Given the description of an element on the screen output the (x, y) to click on. 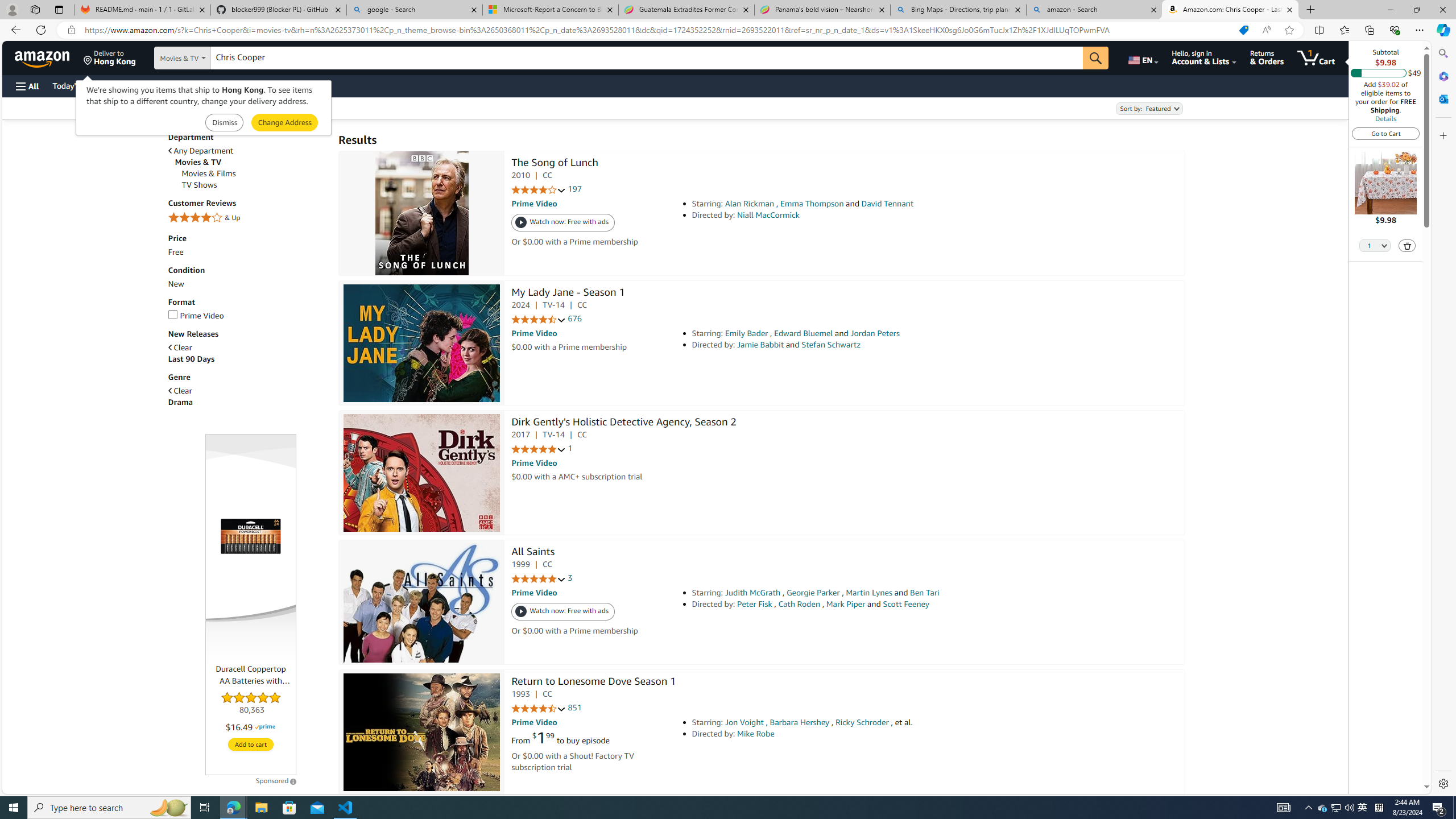
Gift Cards (251, 85)
Registry (205, 85)
Mark Piper (845, 603)
Ricky Schroder (861, 722)
Details (1385, 118)
Quantity Selector (1374, 245)
4.0 out of 5 stars (538, 190)
Stefan Schwartz (830, 344)
The Song of Lunch (421, 213)
Delete (1407, 245)
New (175, 283)
